Given the description of an element on the screen output the (x, y) to click on. 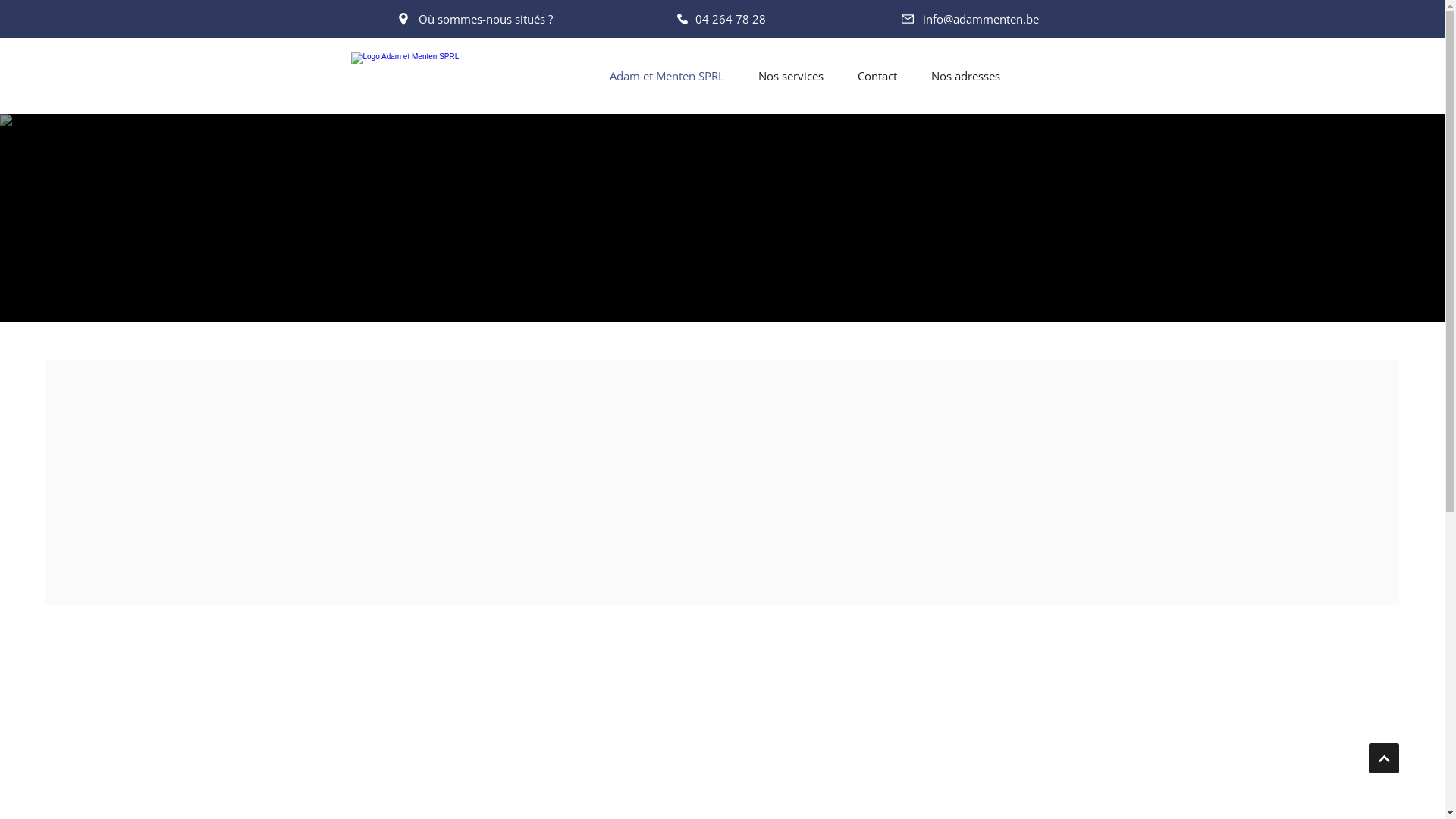
Nos adresses Element type: text (965, 75)
Contact Element type: text (876, 75)
Adam et Menten SPRL Element type: text (667, 75)
info@adammenten.be Element type: text (968, 18)
04 264 78 28 Element type: text (720, 18)
